Given the description of an element on the screen output the (x, y) to click on. 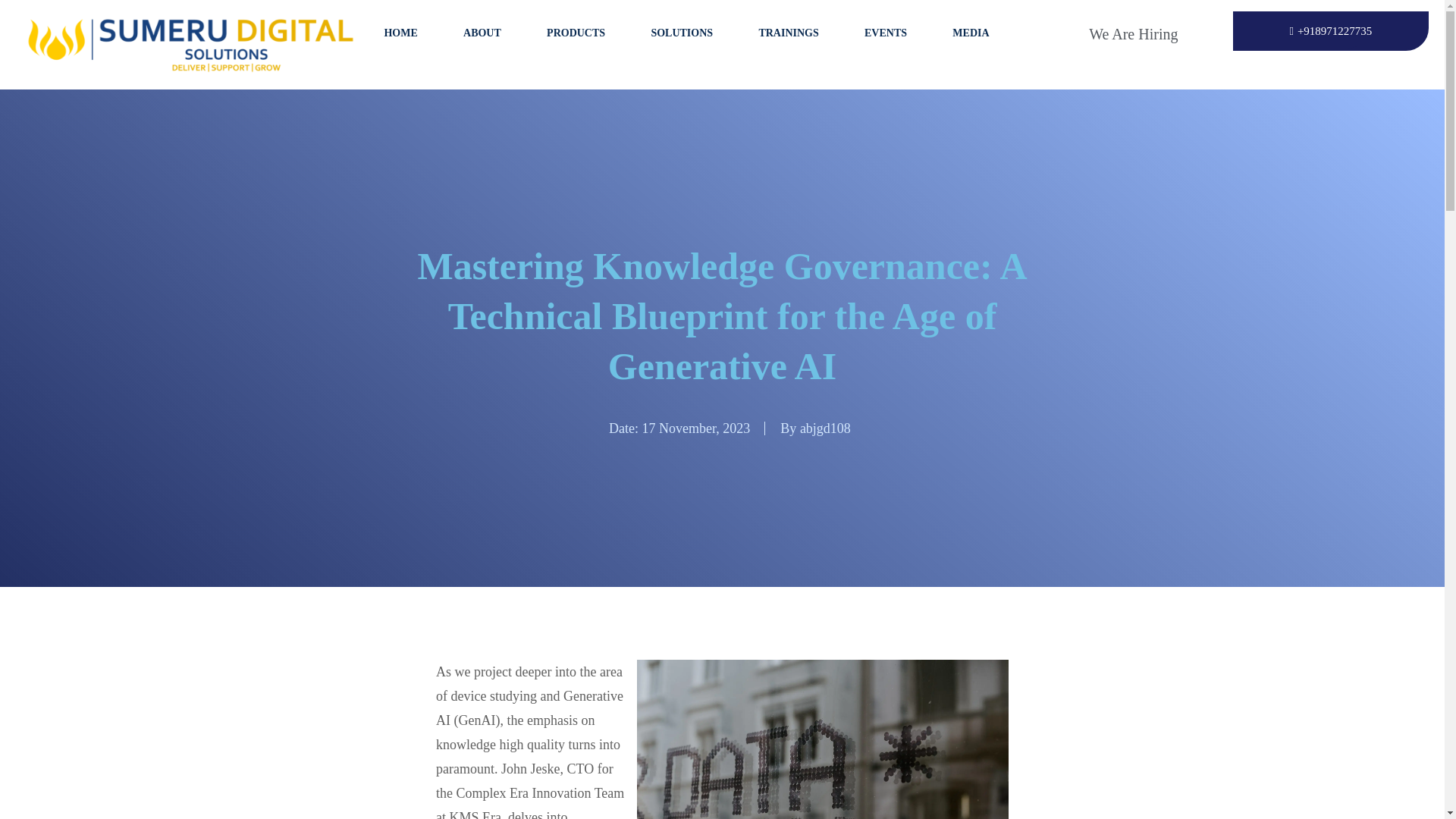
MEDIA (970, 33)
EVENTS (885, 33)
TRAININGS (788, 33)
ABOUT (481, 33)
HOME (400, 33)
PRODUCTS (575, 33)
SOLUTIONS (681, 33)
